Given the description of an element on the screen output the (x, y) to click on. 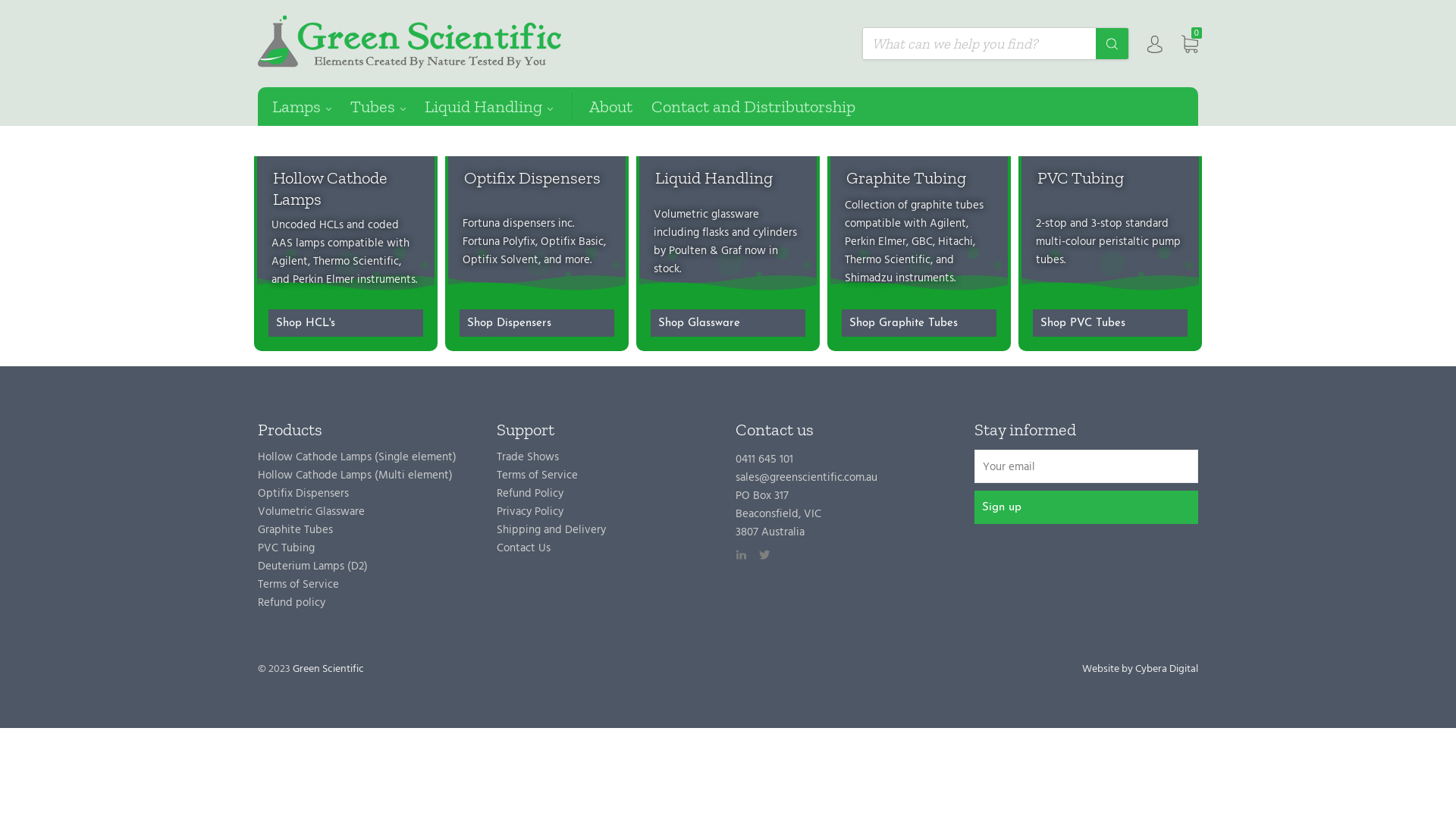
Optifix Basic Element type: text (571, 243)
Deuterium Lamps (D2) Element type: text (312, 567)
sales@greenscientific.com.au Element type: text (806, 478)
Terms of Service Element type: text (297, 585)
About Element type: text (620, 105)
Hollow Cathode Lamps (Multi element) Element type: text (354, 476)
Refund policy Element type: text (291, 604)
3-stop standard multi-colour peristaltic pump tubes Element type: text (1107, 242)
Refund Policy Element type: text (529, 494)
Thermo Scientific Element type: text (887, 261)
PVC Tubing Element type: text (285, 549)
Optifix Dispensers Element type: text (302, 494)
Thermo Scientific Element type: text (355, 262)
Lamps Element type: text (311, 105)
Graphite Tubes Element type: text (294, 531)
Uncoded HCLs Element type: text (307, 226)
2-stop Element type: text (1050, 224)
Perkin Elmer Element type: text (875, 243)
Terms of Service Element type: text (536, 476)
Shop PVC Tubes Element type: text (1109, 322)
Shop Glassware Element type: text (727, 322)
Contact Us Element type: text (523, 549)
Fortuna Polyfix Element type: text (498, 243)
Tubes Element type: text (387, 105)
Shop HCL's Element type: text (345, 322)
Volumetric glassware Element type: text (706, 215)
Volumetric Glassware Element type: text (310, 513)
Shop Dispensers Element type: text (536, 322)
GBC Element type: text (921, 243)
Website by Cybera Digital Element type: text (1140, 670)
Shipping and Delivery Element type: text (550, 531)
Optifix Dispensers Element type: text (532, 177)
Sign up Element type: text (1086, 507)
0 Element type: text (1189, 42)
Perkin Elmer Element type: text (323, 280)
Hitachi Element type: text (955, 243)
Shop Graphite Tubes Element type: text (918, 322)
Contact and Distributorship Element type: text (762, 105)
Agilent Element type: text (289, 262)
Optifix Solvent Element type: text (500, 261)
Privacy Policy Element type: text (529, 513)
graphite tubes Element type: text (946, 206)
Liquid Handling Element type: text (713, 177)
Graphite Tubing Element type: text (906, 177)
Agilent Element type: text (947, 224)
PVC Tubing Element type: text (1080, 177)
Trade Shows Element type: text (527, 458)
Green Scientific Element type: text (328, 669)
Hollow Cathode Lamps Element type: text (330, 188)
Hollow Cathode Lamps (Single element) Element type: text (356, 458)
Liquid Handling Element type: text (497, 105)
Shimadzu Element type: text (868, 279)
